Given the description of an element on the screen output the (x, y) to click on. 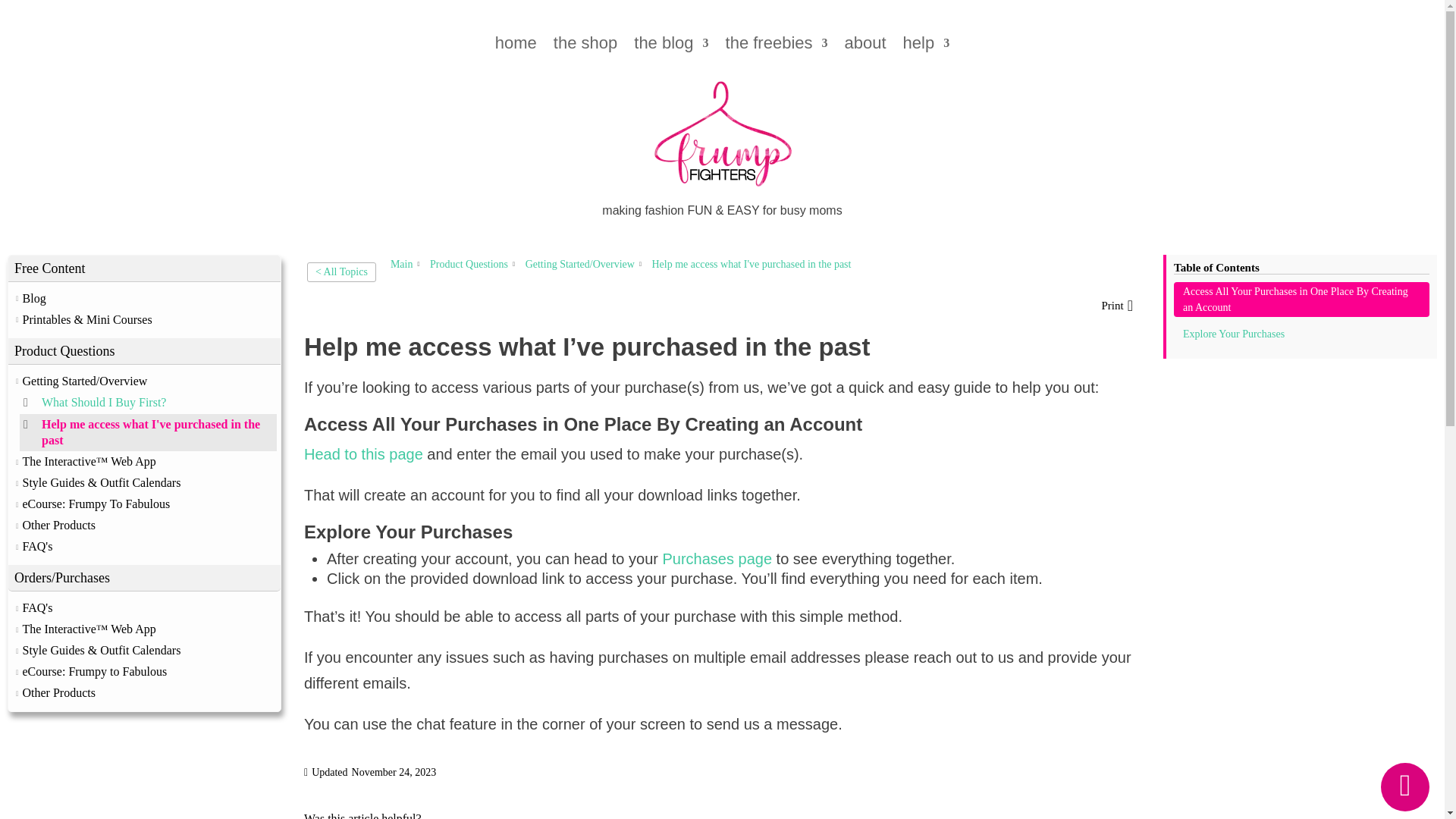
the blog (670, 45)
about (865, 45)
home (516, 45)
help (926, 45)
Bold, Transparent - Frump Fighters Logo 200px COMPRESSED - (721, 136)
the freebies (776, 45)
the shop (585, 45)
Blog (34, 298)
